Given the description of an element on the screen output the (x, y) to click on. 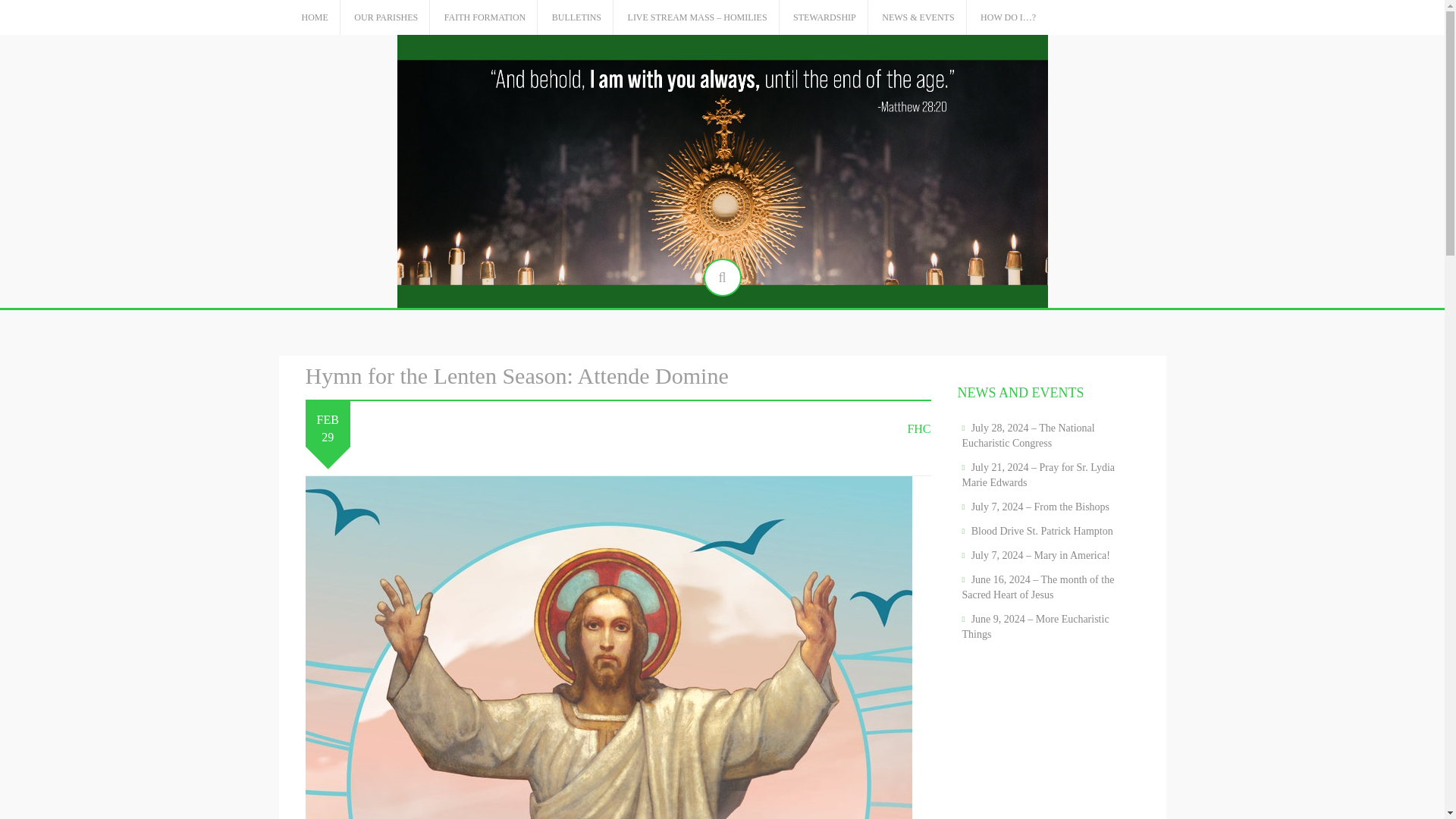
OUR PARISHES (385, 17)
BULLETINS (576, 17)
HOME (315, 17)
FAITH FORMATION (484, 17)
STEWARDSHIP (824, 17)
